Given the description of an element on the screen output the (x, y) to click on. 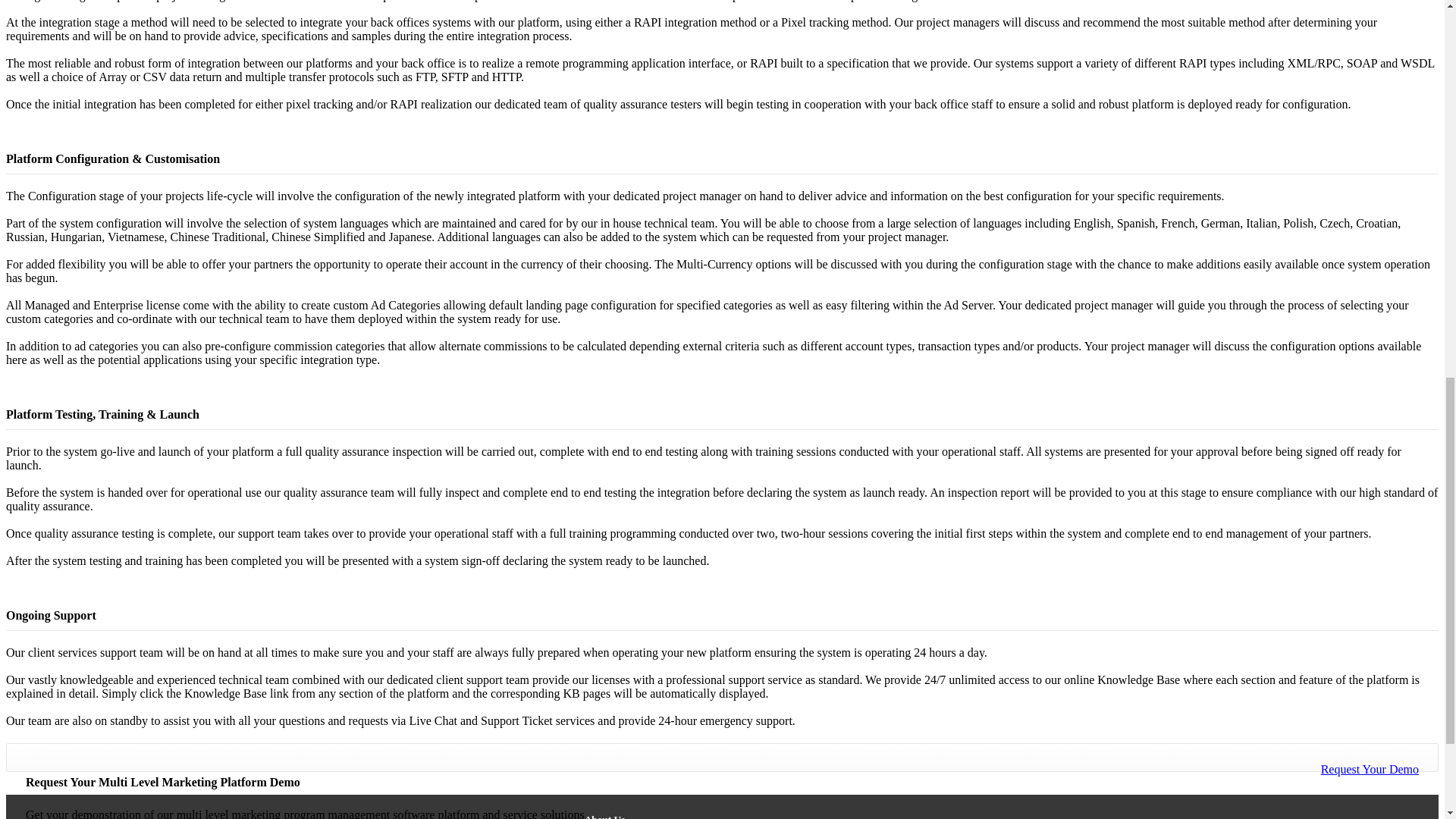
Request Your Demo (1369, 769)
